Given the description of an element on the screen output the (x, y) to click on. 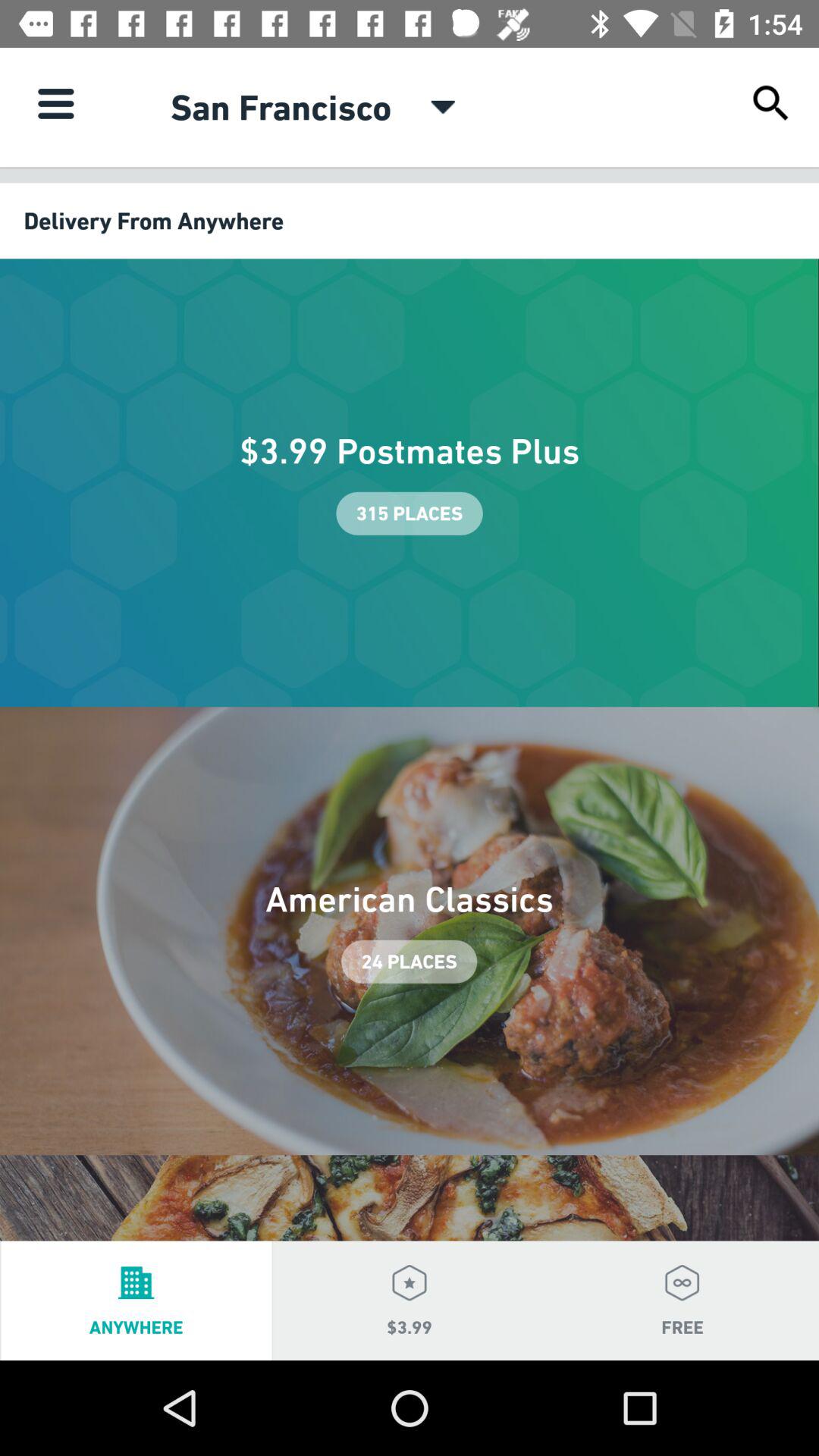
press the item next to the san francisco icon (442, 107)
